Given the description of an element on the screen output the (x, y) to click on. 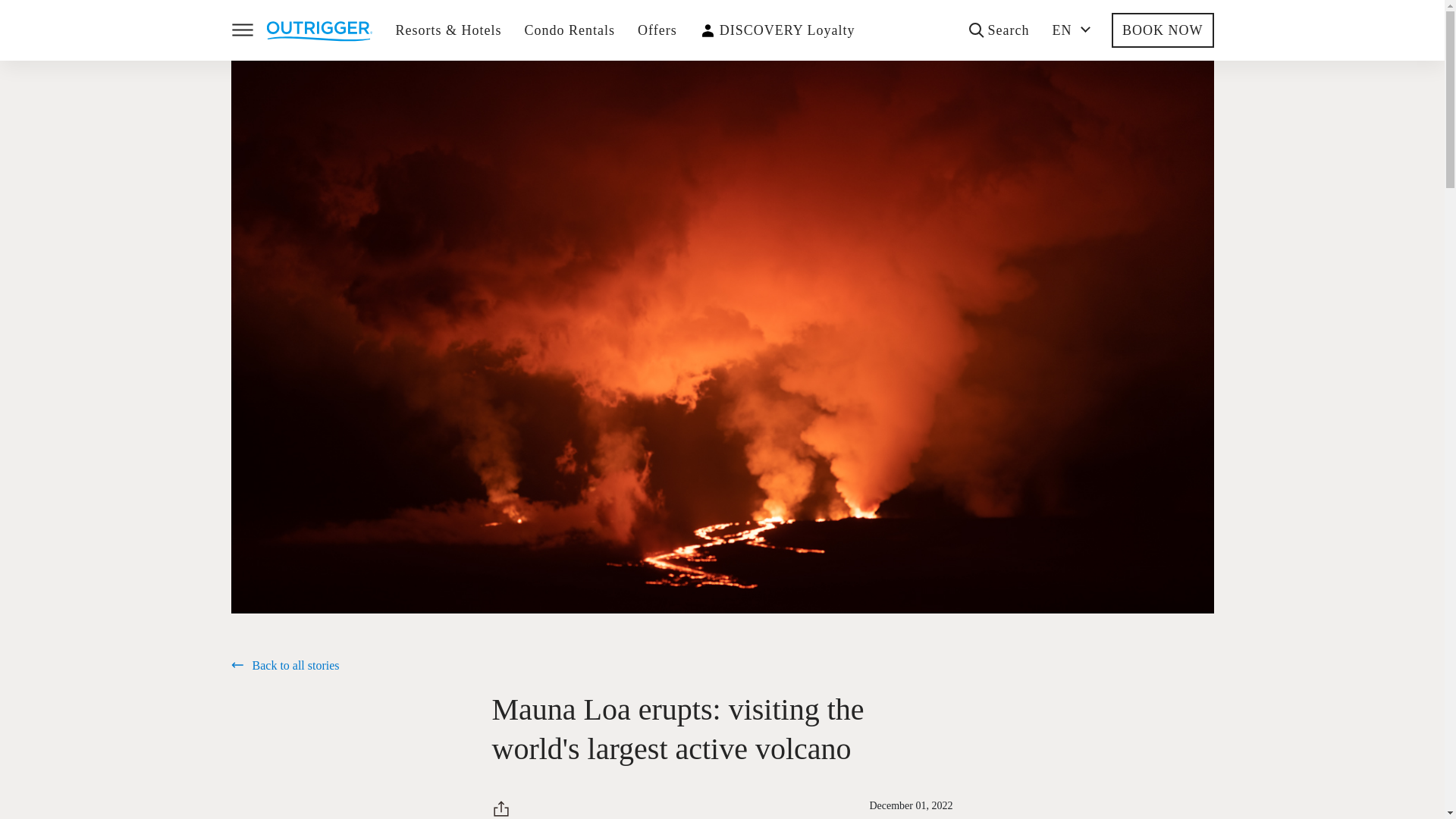
BOOK NOW (1163, 30)
Condo Rentals (569, 29)
EN (1070, 29)
DISCOVERY Loyalty (787, 30)
Search (999, 30)
Offers (657, 29)
